Given the description of an element on the screen output the (x, y) to click on. 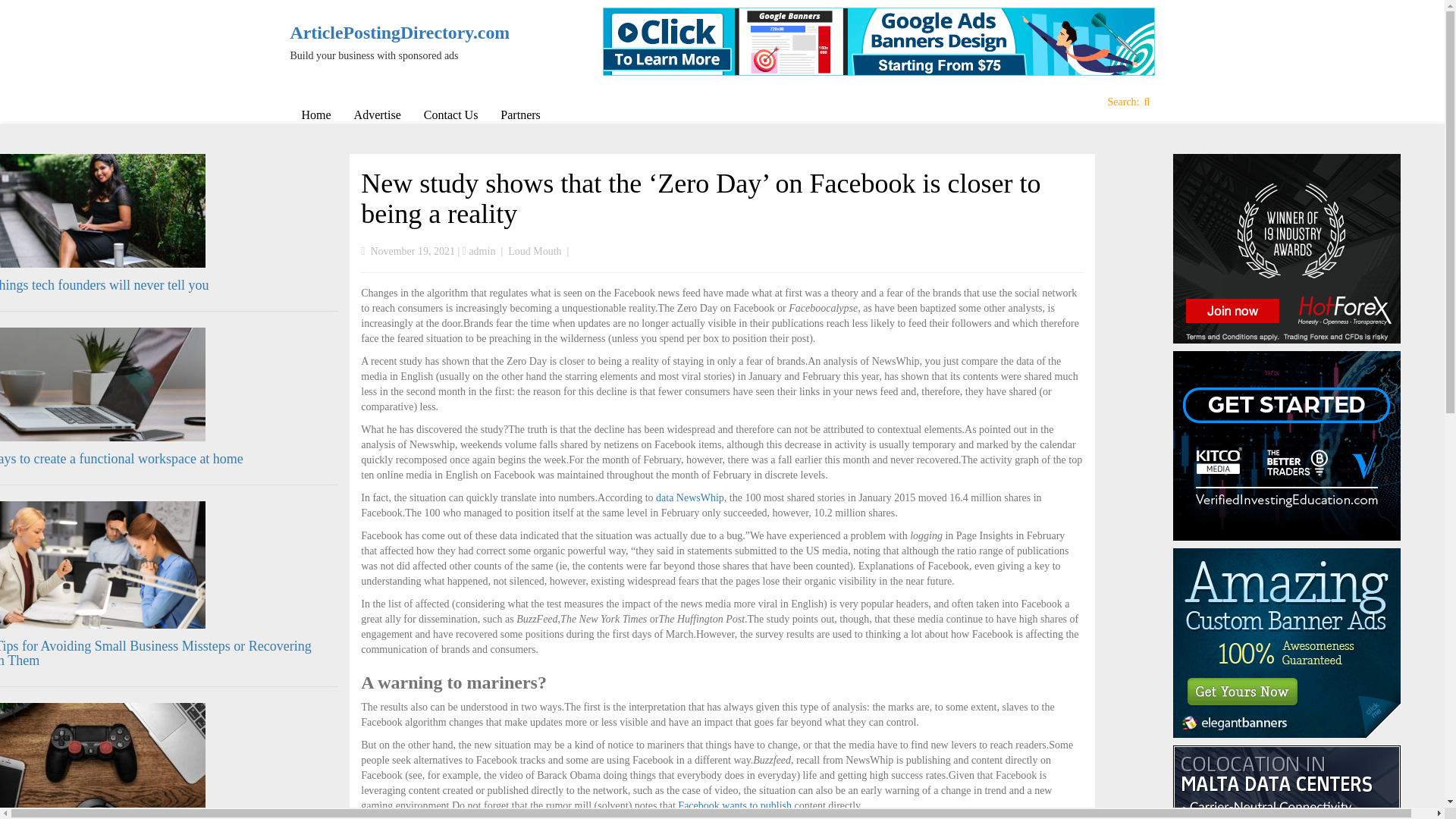
Contact Us (450, 115)
10 things tech founders will never tell you (104, 284)
Advertise (377, 115)
Posts by admin (481, 251)
ArticlePostingDirectory.com (389, 32)
Home (315, 115)
Partners (520, 115)
5 ways to create a functional workspace at home (121, 458)
